Given the description of an element on the screen output the (x, y) to click on. 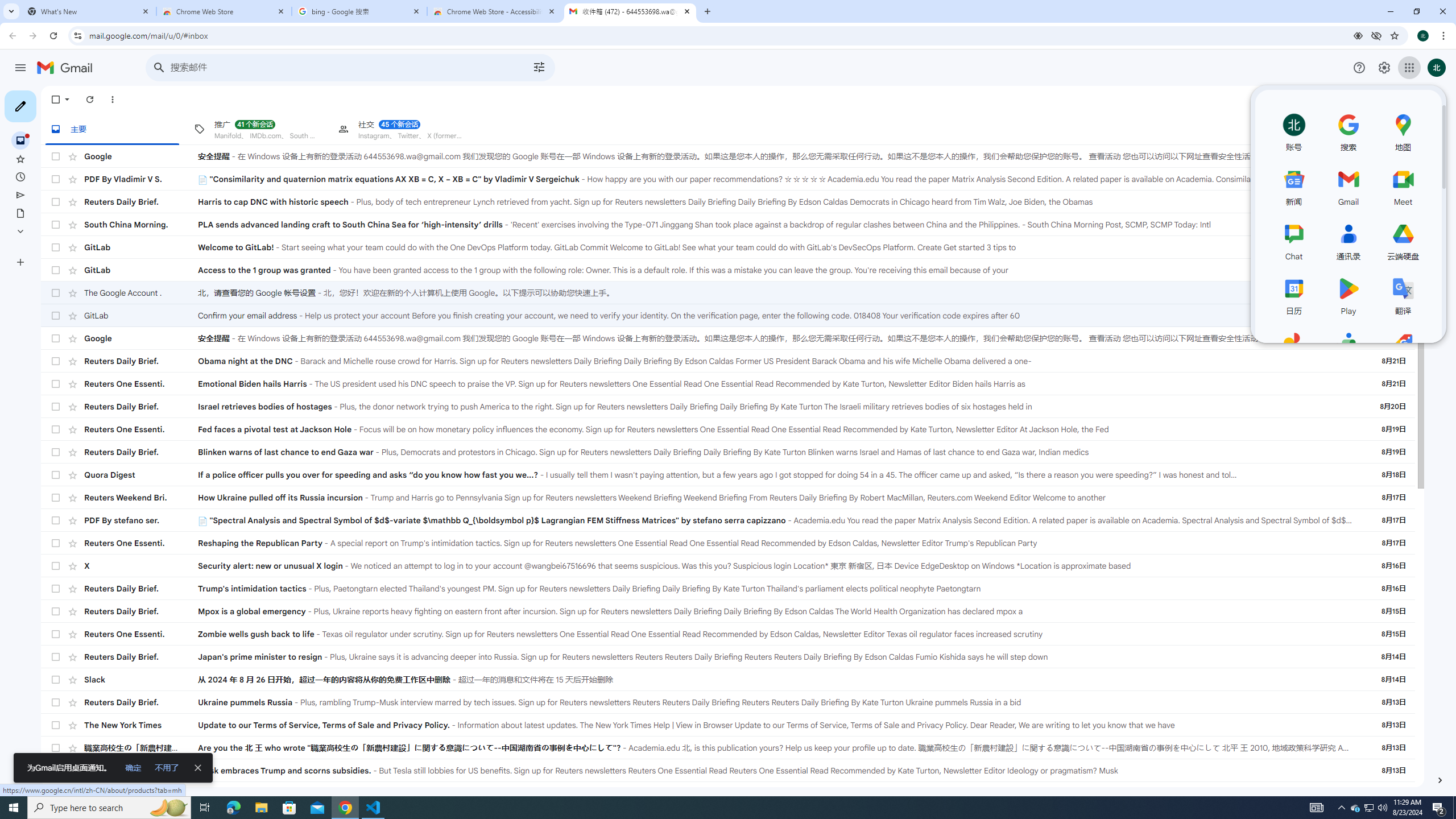
System (6, 6)
Chrome Web Store - Accessibility (494, 11)
Bookmark this tab (1393, 35)
Quora Digest (141, 474)
